Given the description of an element on the screen output the (x, y) to click on. 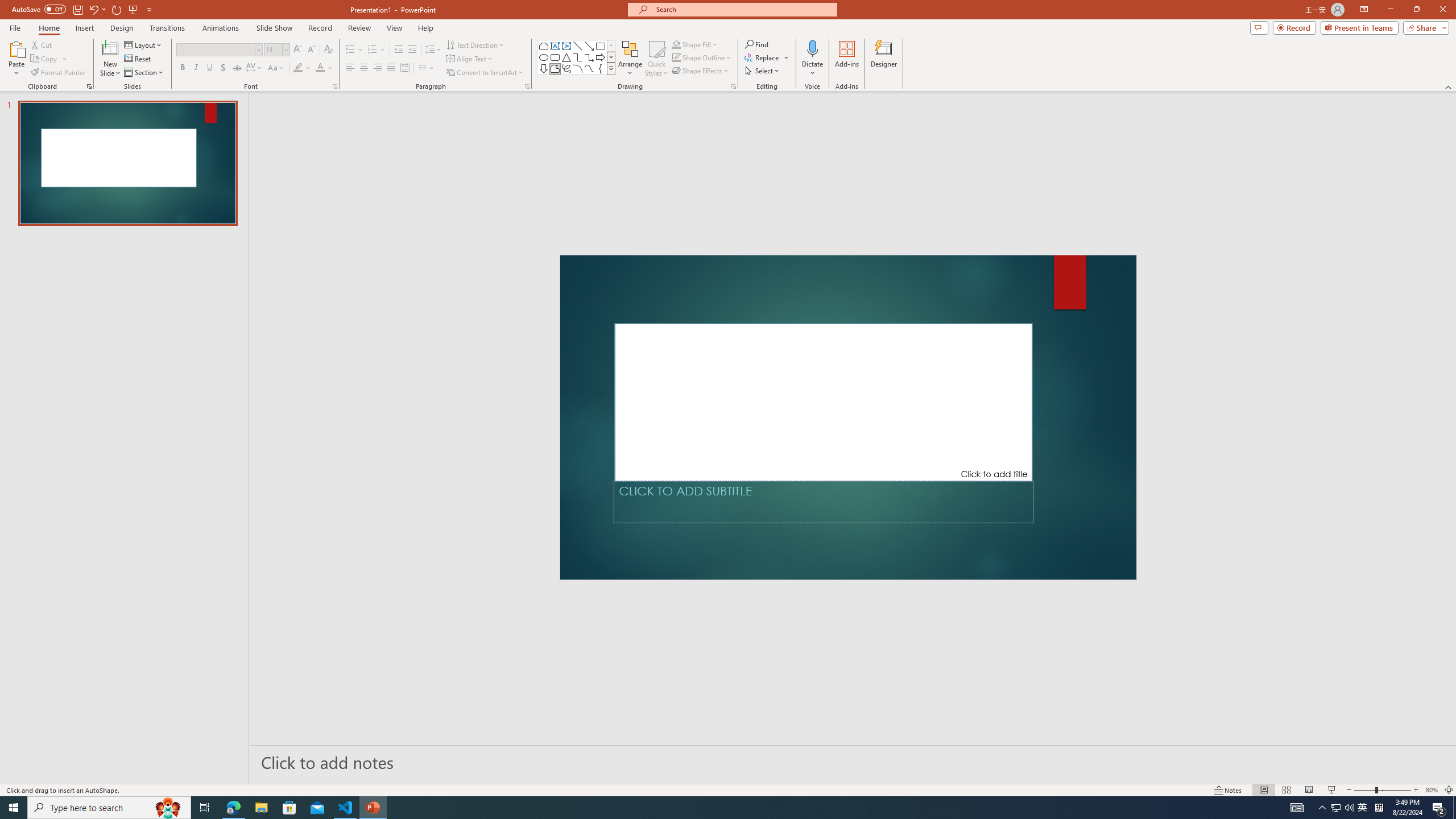
Zoom 80% (1431, 790)
